Given the description of an element on the screen output the (x, y) to click on. 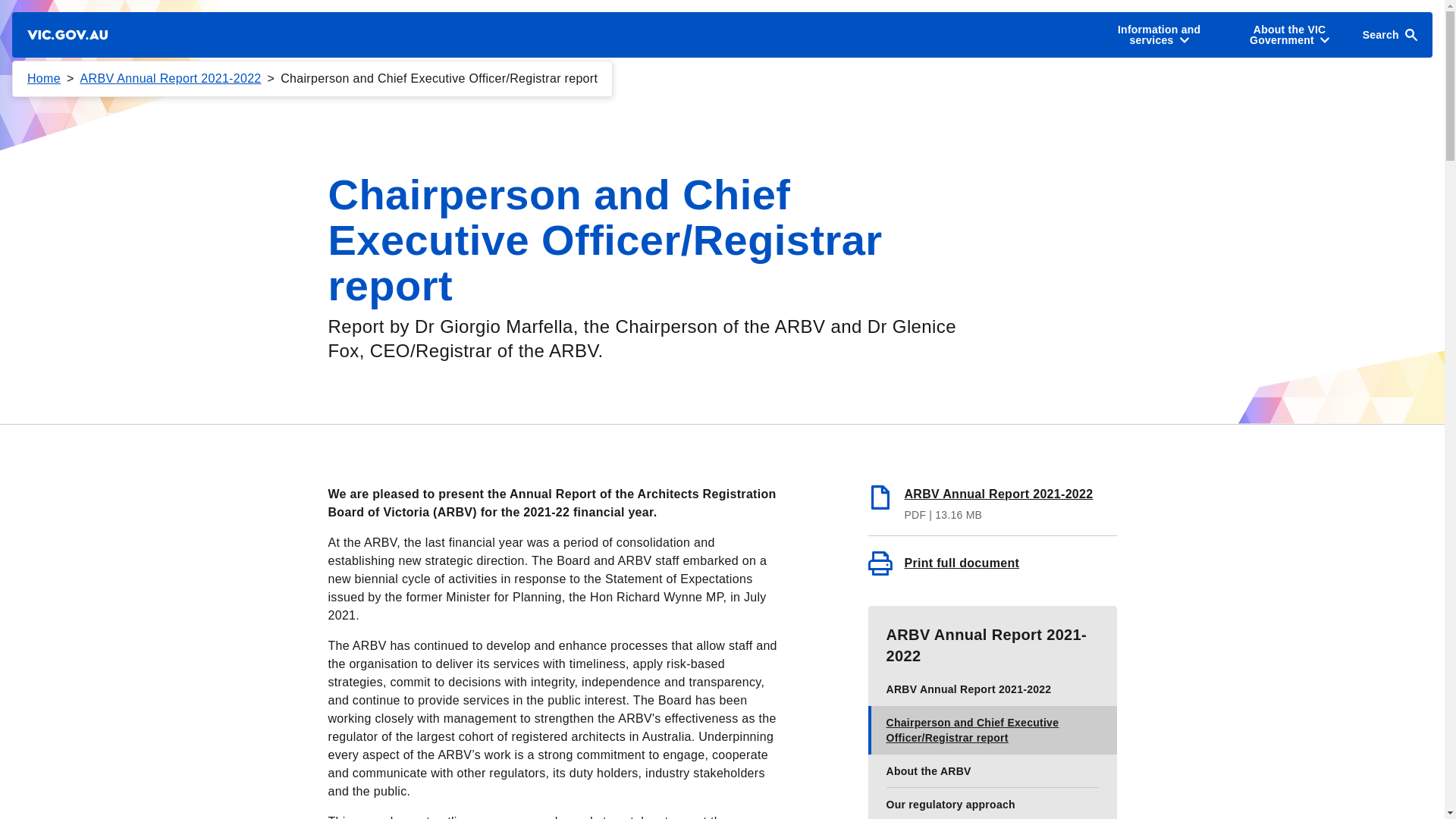
Our regulatory approach (991, 803)
Home (44, 78)
About the ARBV (991, 770)
Print full document (991, 562)
ARBV Annual Report 2021-2022 (991, 502)
ARBV Annual Report 2021-2022 (171, 78)
